Given the description of an element on the screen output the (x, y) to click on. 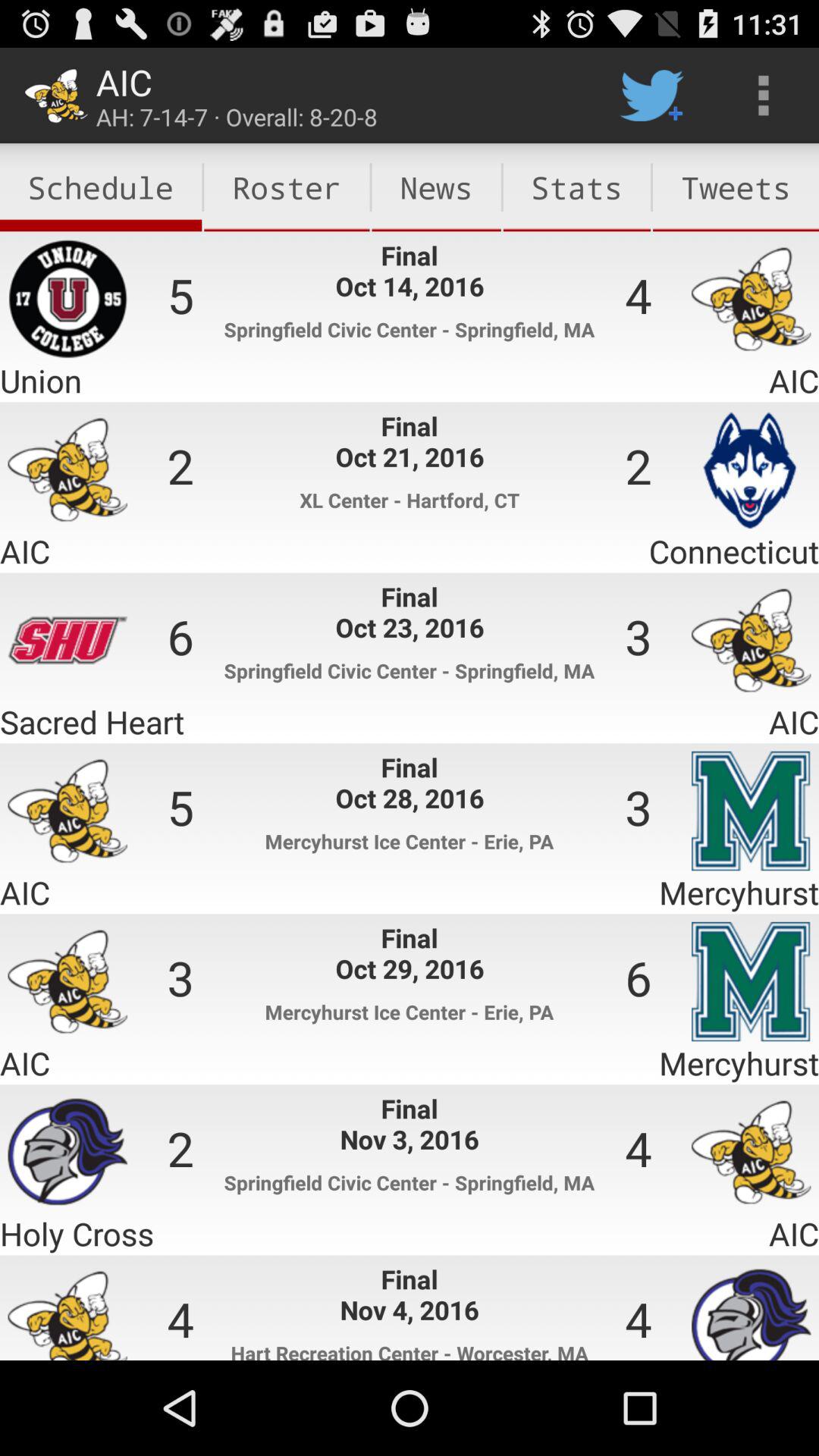
launch the icon to the left of roster item (100, 187)
